Given the description of an element on the screen output the (x, y) to click on. 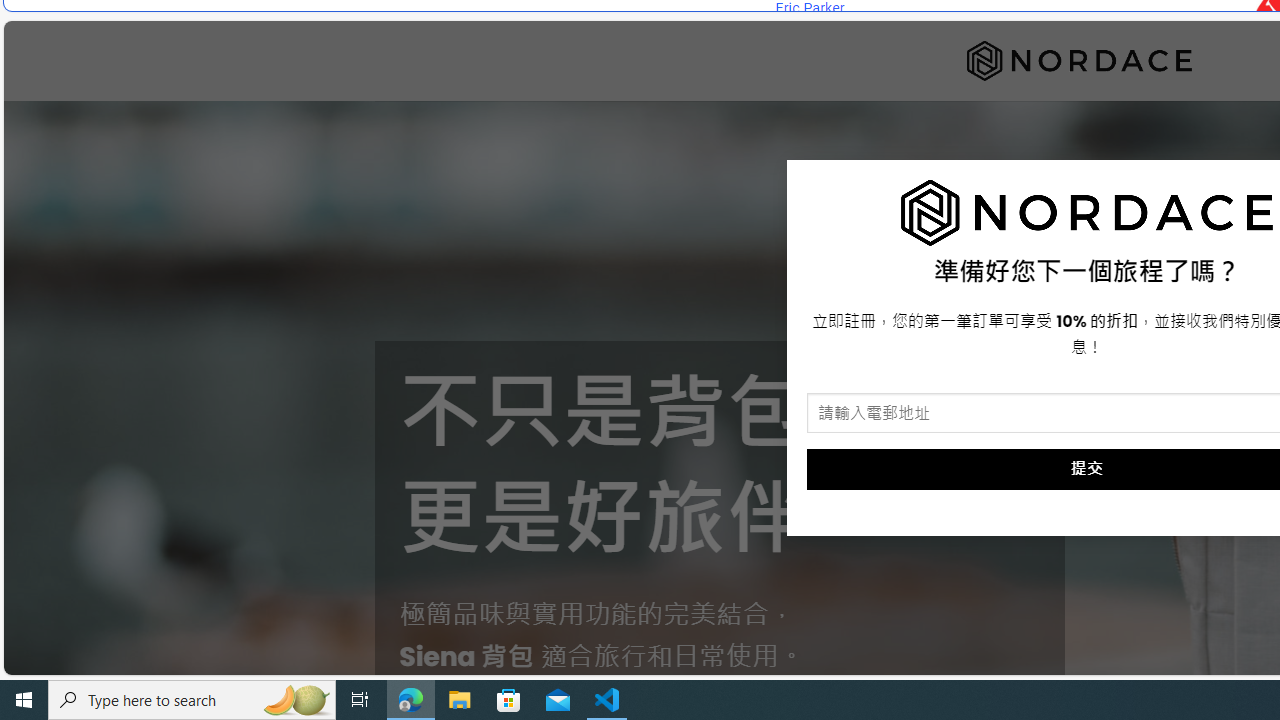
Eric Parker (809, 8)
